Given the description of an element on the screen output the (x, y) to click on. 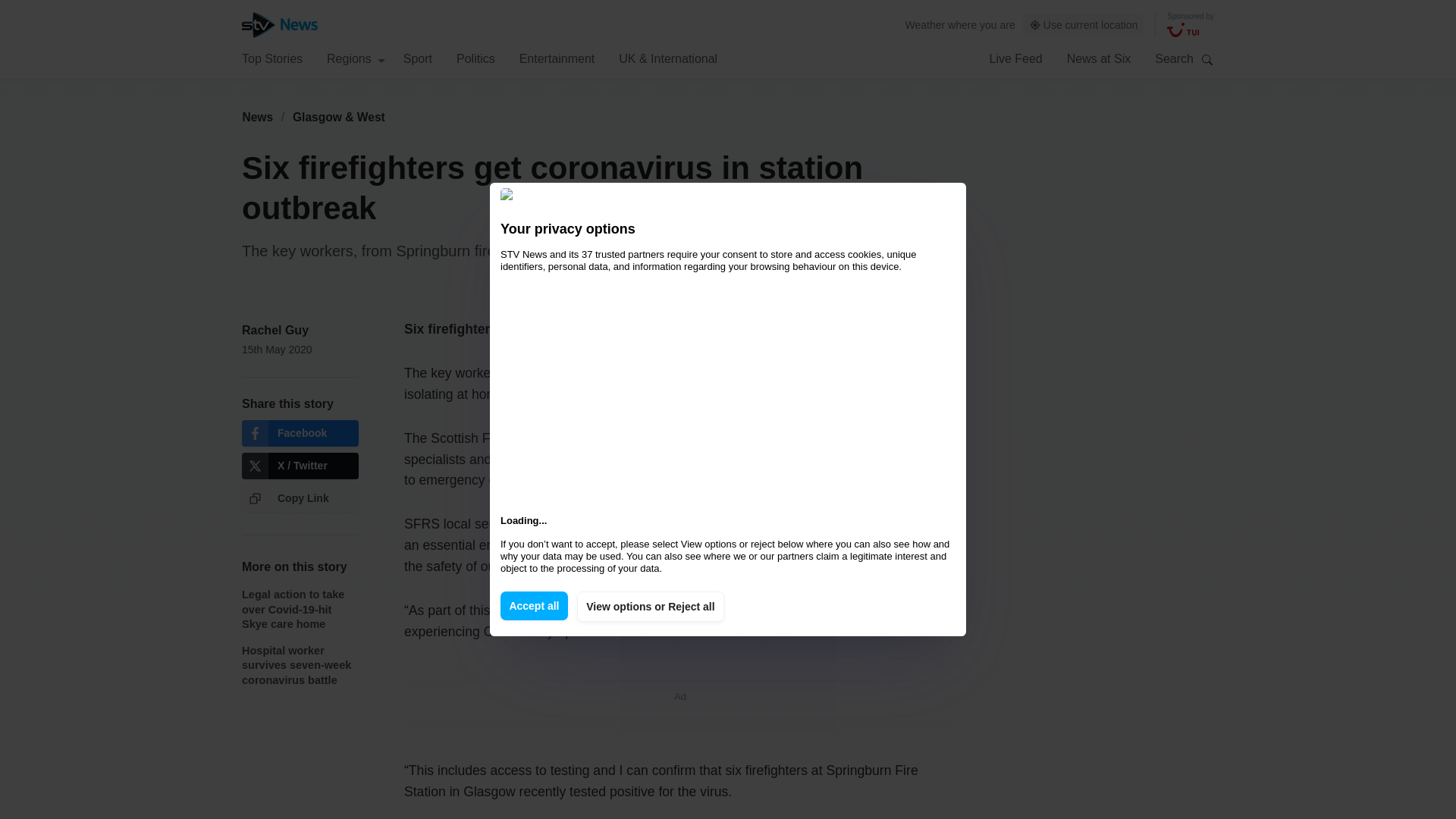
Regions (355, 57)
Search (1206, 59)
Top Stories (271, 57)
Weather (924, 24)
News (257, 116)
Politics (476, 57)
Live Feed (1015, 57)
Rachel Guy (274, 329)
Use current location (1083, 25)
Entertainment (557, 57)
News at Six (1099, 57)
